Given the description of an element on the screen output the (x, y) to click on. 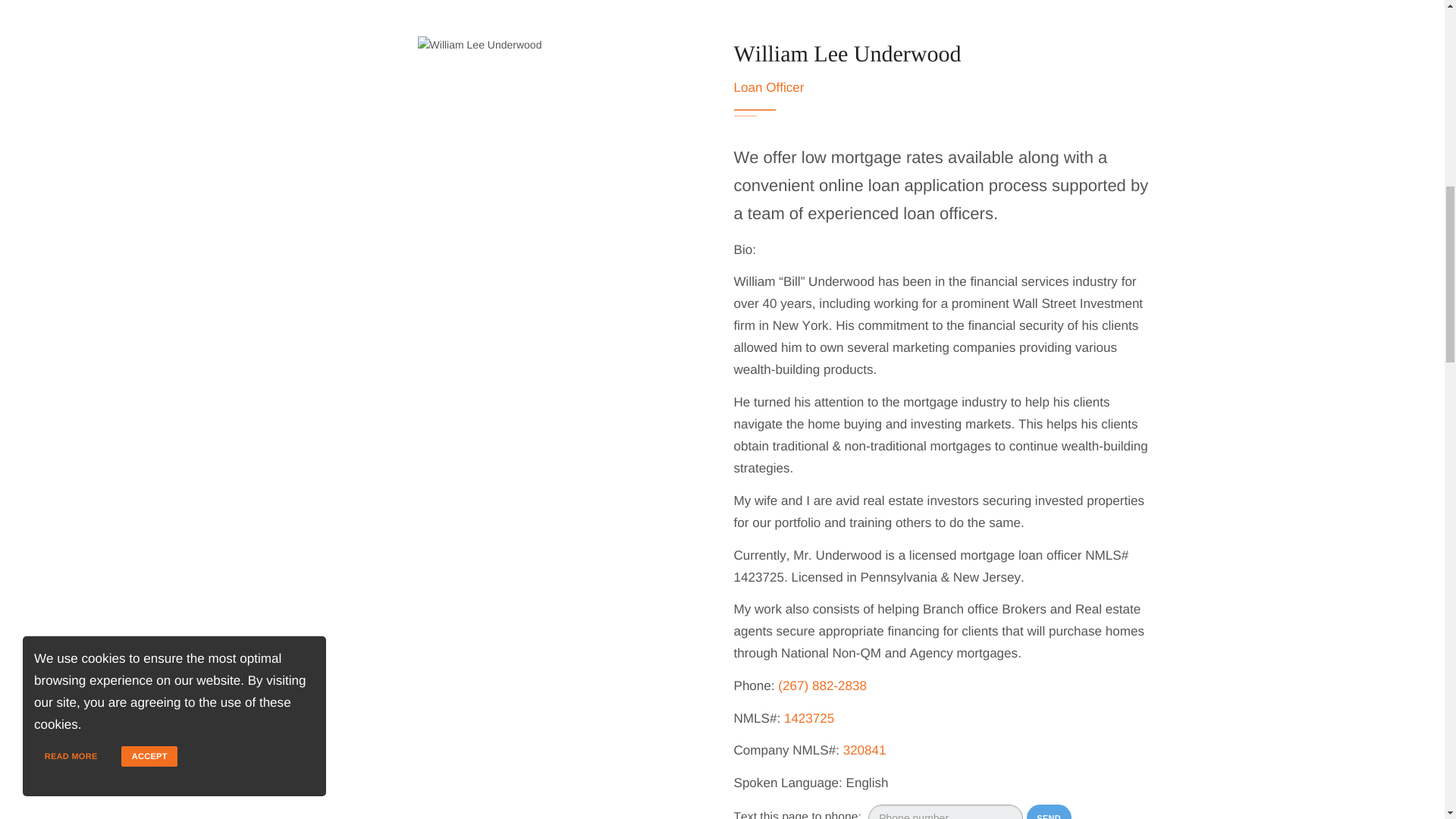
1423725 (809, 718)
SEND (1048, 811)
320841 (864, 749)
